Given the description of an element on the screen output the (x, y) to click on. 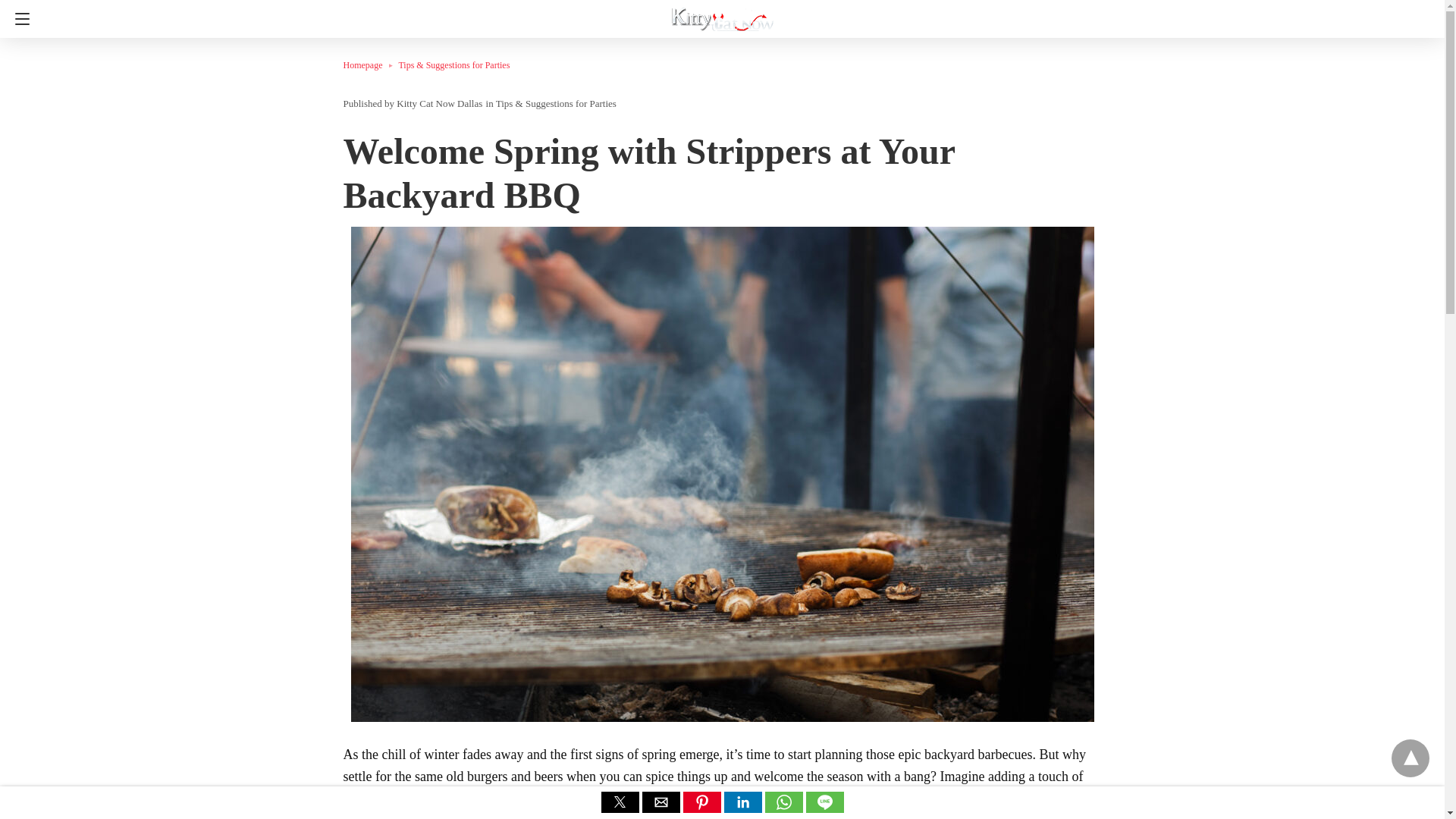
Homepage (369, 64)
whatsapp share (784, 808)
line share (824, 808)
Homepage (369, 64)
back to top (1410, 758)
Kitty Cat Now Dallas (722, 13)
